Given the description of an element on the screen output the (x, y) to click on. 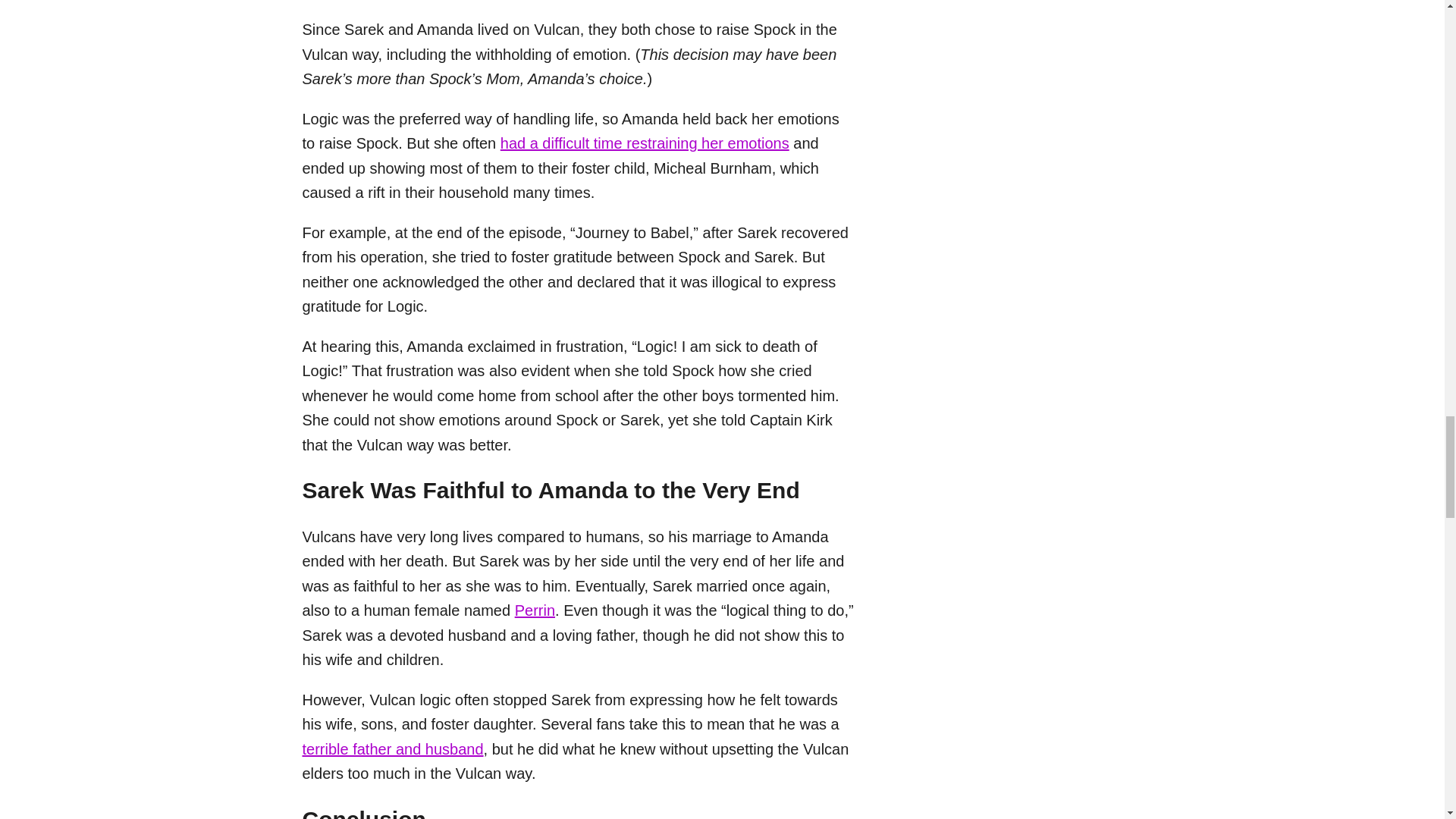
terrible father and husband (392, 749)
had a difficult time restraining her emotions (644, 143)
Perrin (534, 610)
